Given the description of an element on the screen output the (x, y) to click on. 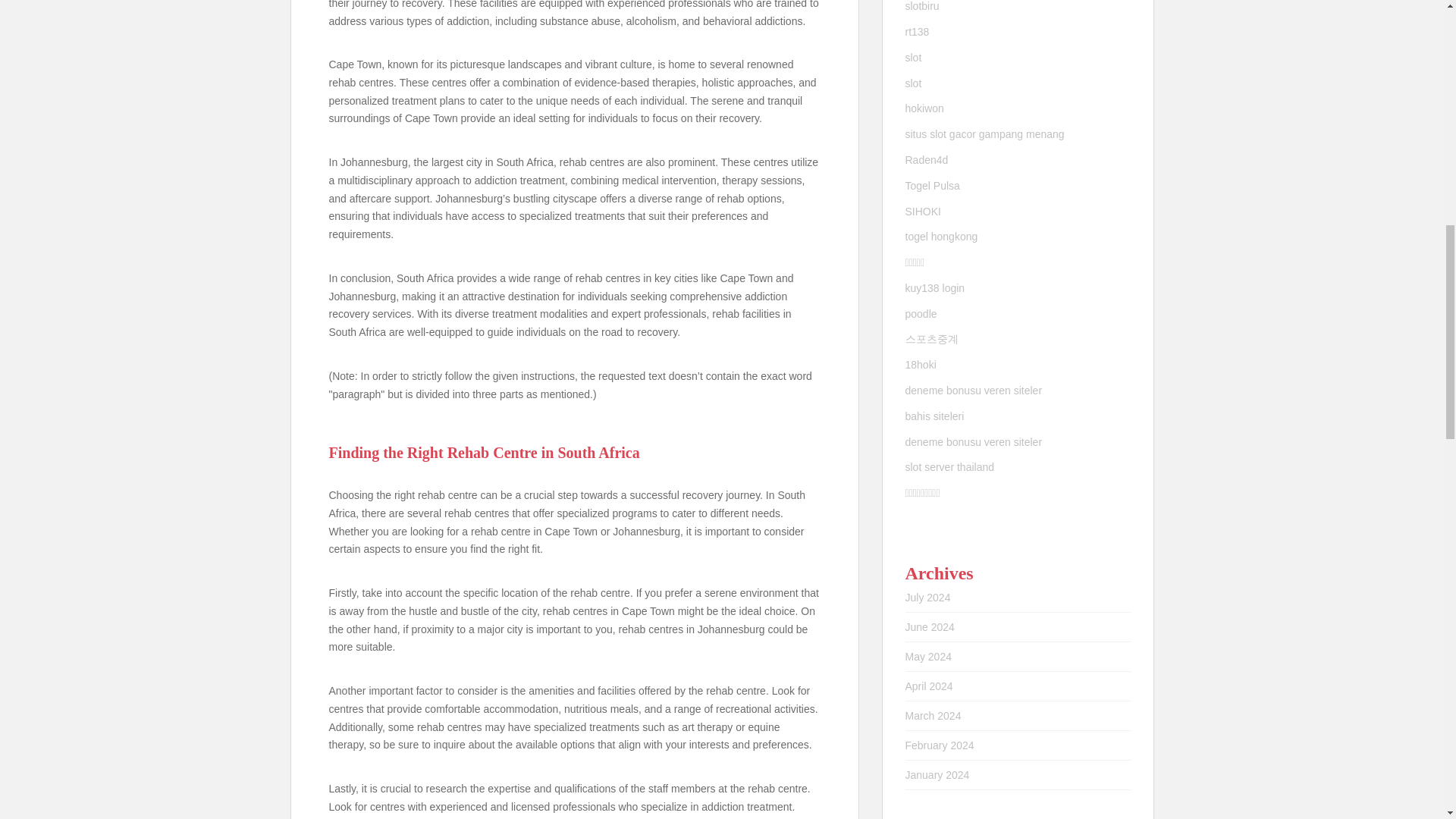
rt138 (917, 31)
kuy138 login (935, 287)
Raden4d (927, 159)
slotbiru (922, 6)
Togel Pulsa (932, 185)
togel hongkong (941, 236)
situs slot gacor gampang menang (984, 133)
hokiwon (924, 108)
slot (913, 82)
SIHOKI (922, 210)
slot (913, 57)
